Given the description of an element on the screen output the (x, y) to click on. 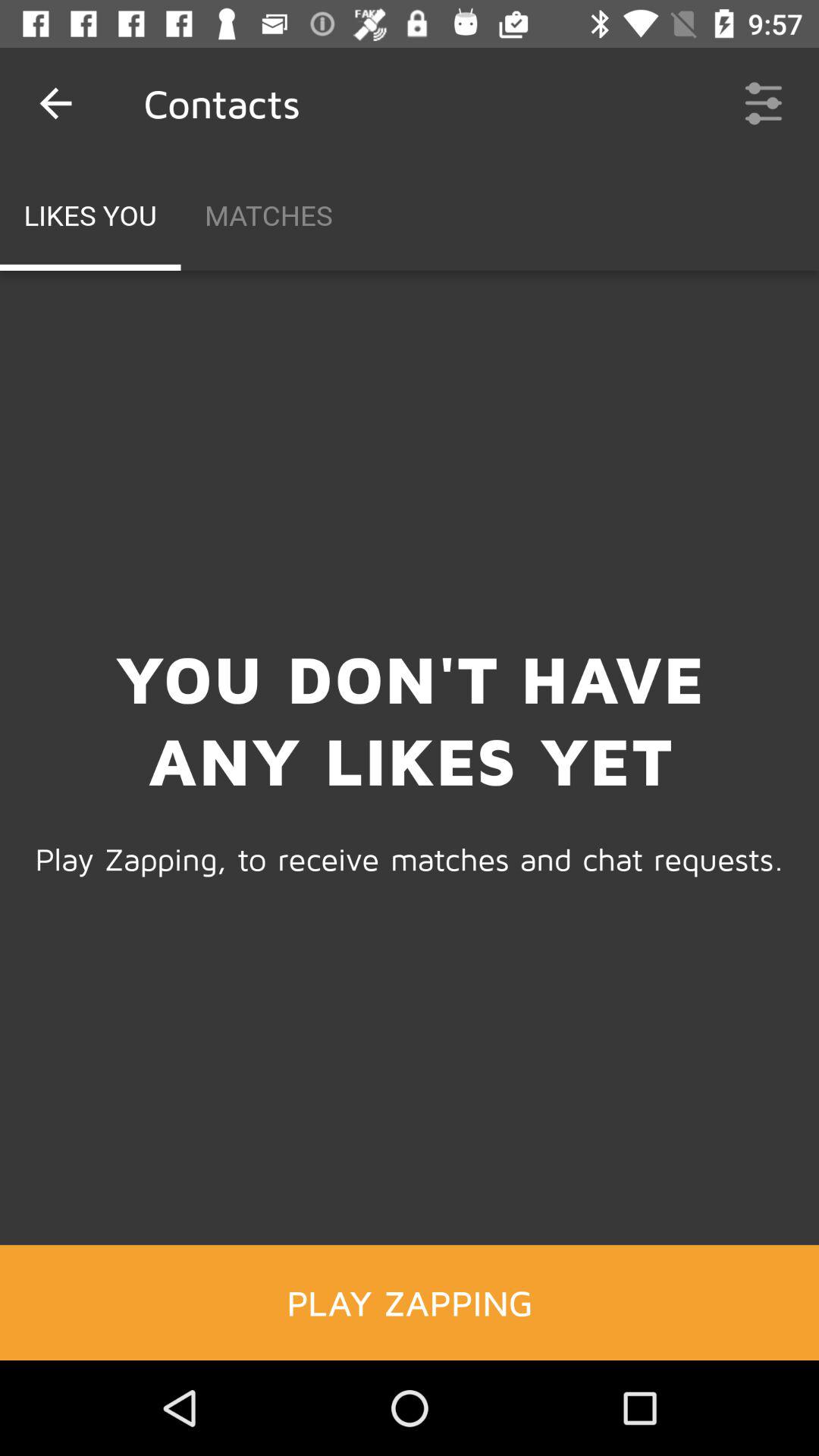
turn on the icon to the left of the contacts (55, 103)
